Given the description of an element on the screen output the (x, y) to click on. 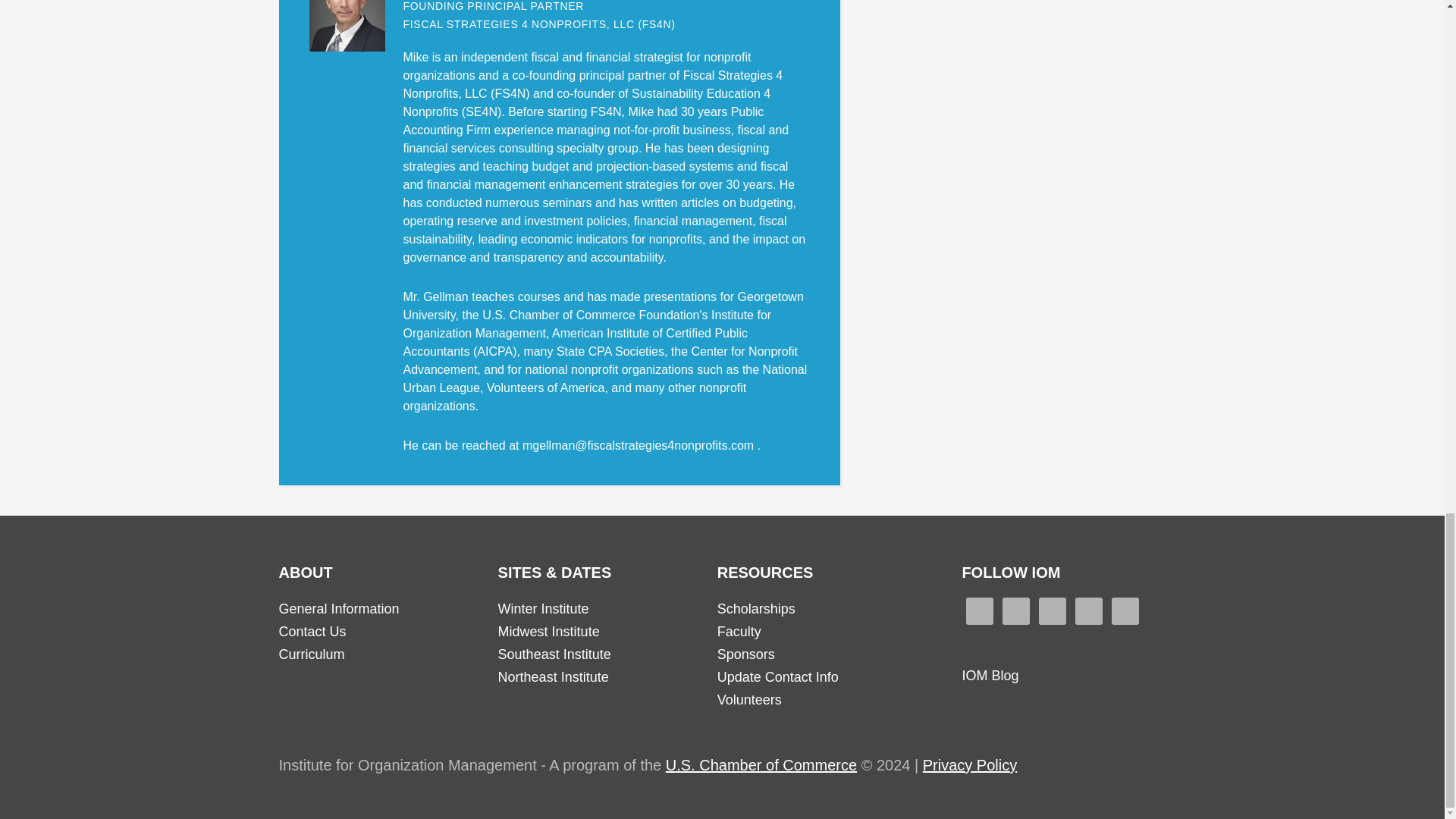
Privacy Policy (969, 764)
